Given the description of an element on the screen output the (x, y) to click on. 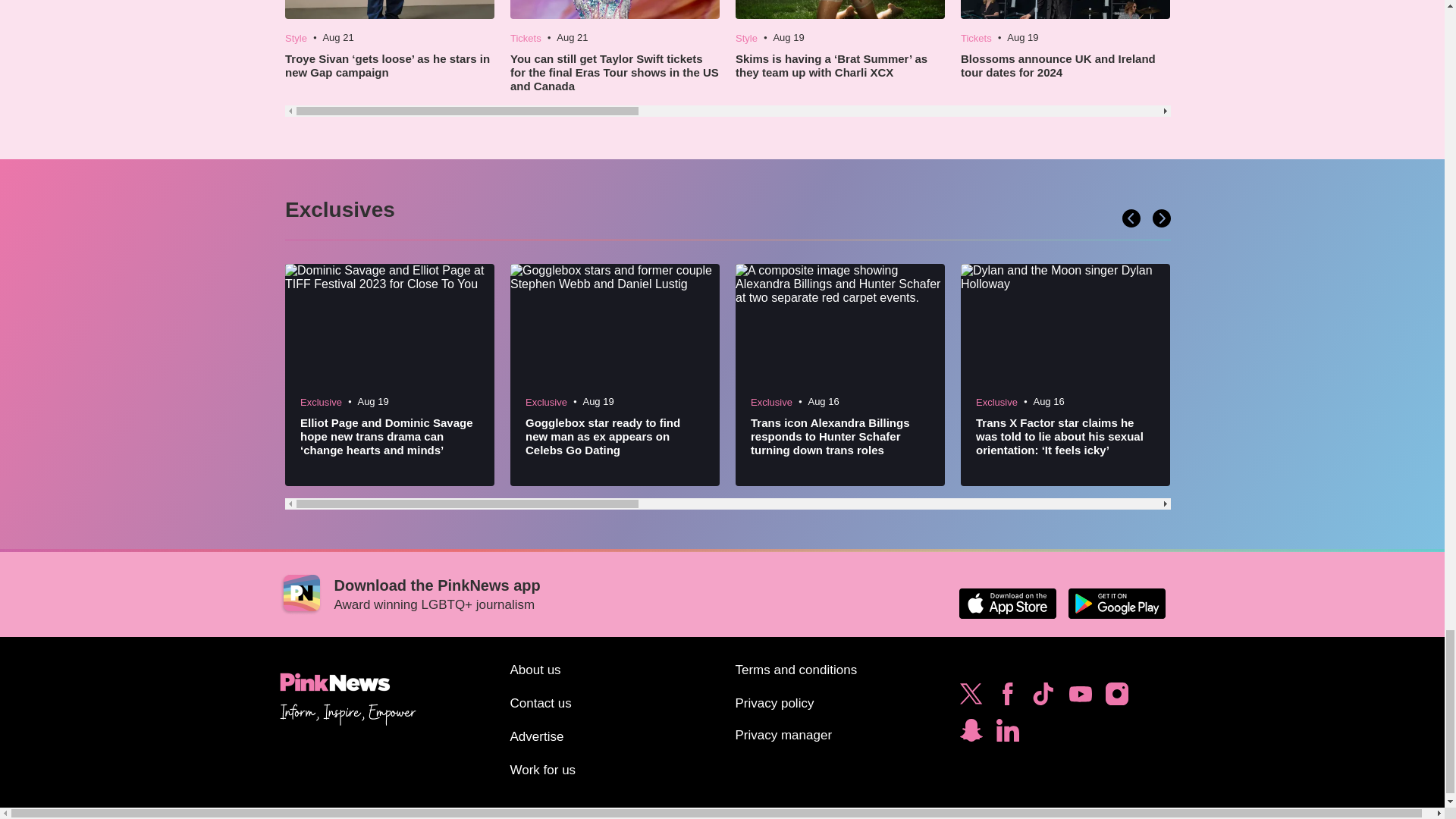
Follow PinkNews on LinkedIn (1007, 733)
Download the PinkNews app on Google Play (1115, 603)
Follow PinkNews on Twitter (970, 697)
Follow PinkNews on TikTok (1042, 697)
Subscribe to PinkNews on YouTube (1079, 697)
Download the PinkNews app on the Apple App Store (1006, 603)
Subscribe to PinkNews on Snapchat (970, 733)
Follow PinkNews on Instagram (1116, 697)
